Given the description of an element on the screen output the (x, y) to click on. 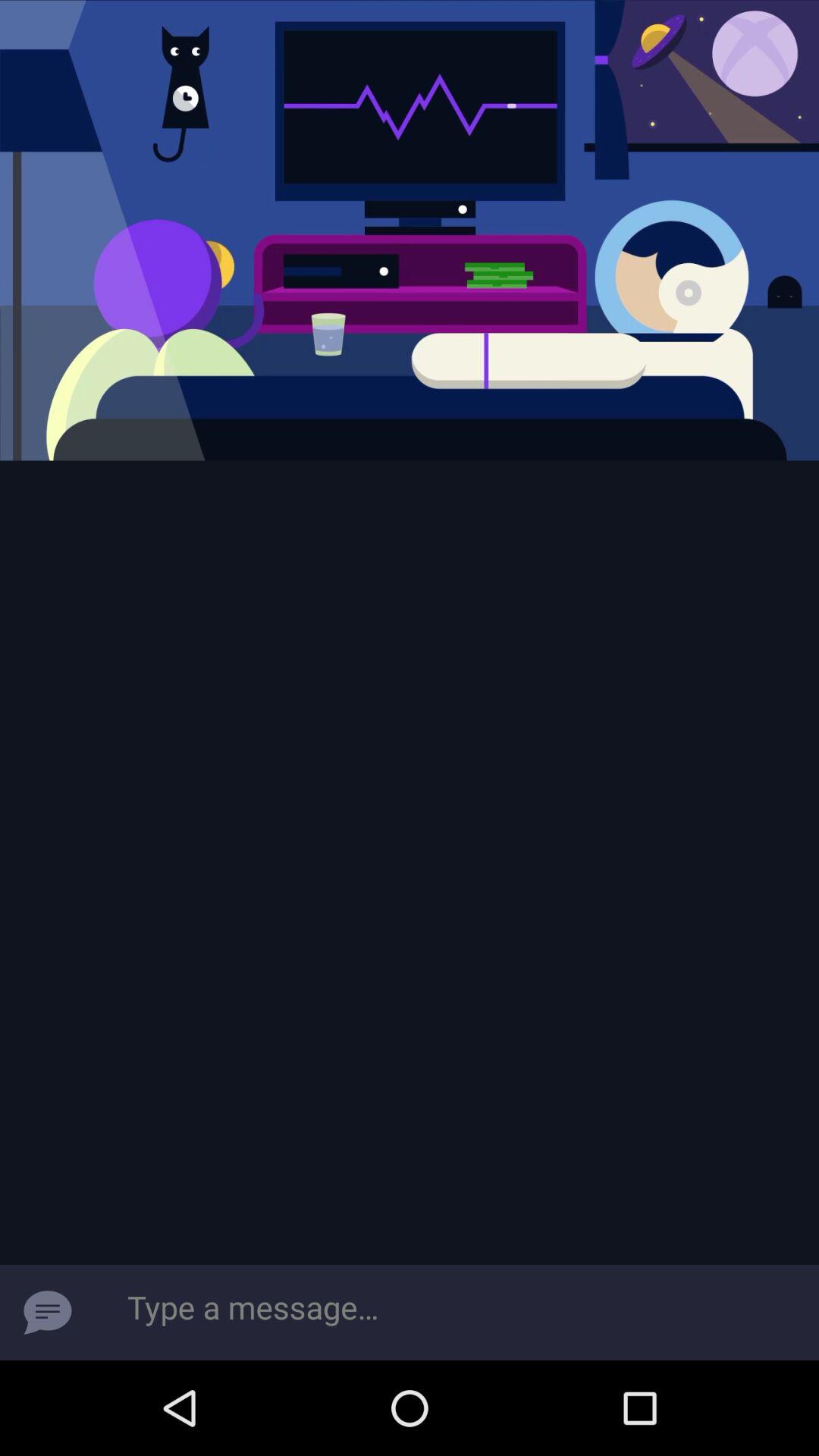
see messages (47, 1312)
